Given the description of an element on the screen output the (x, y) to click on. 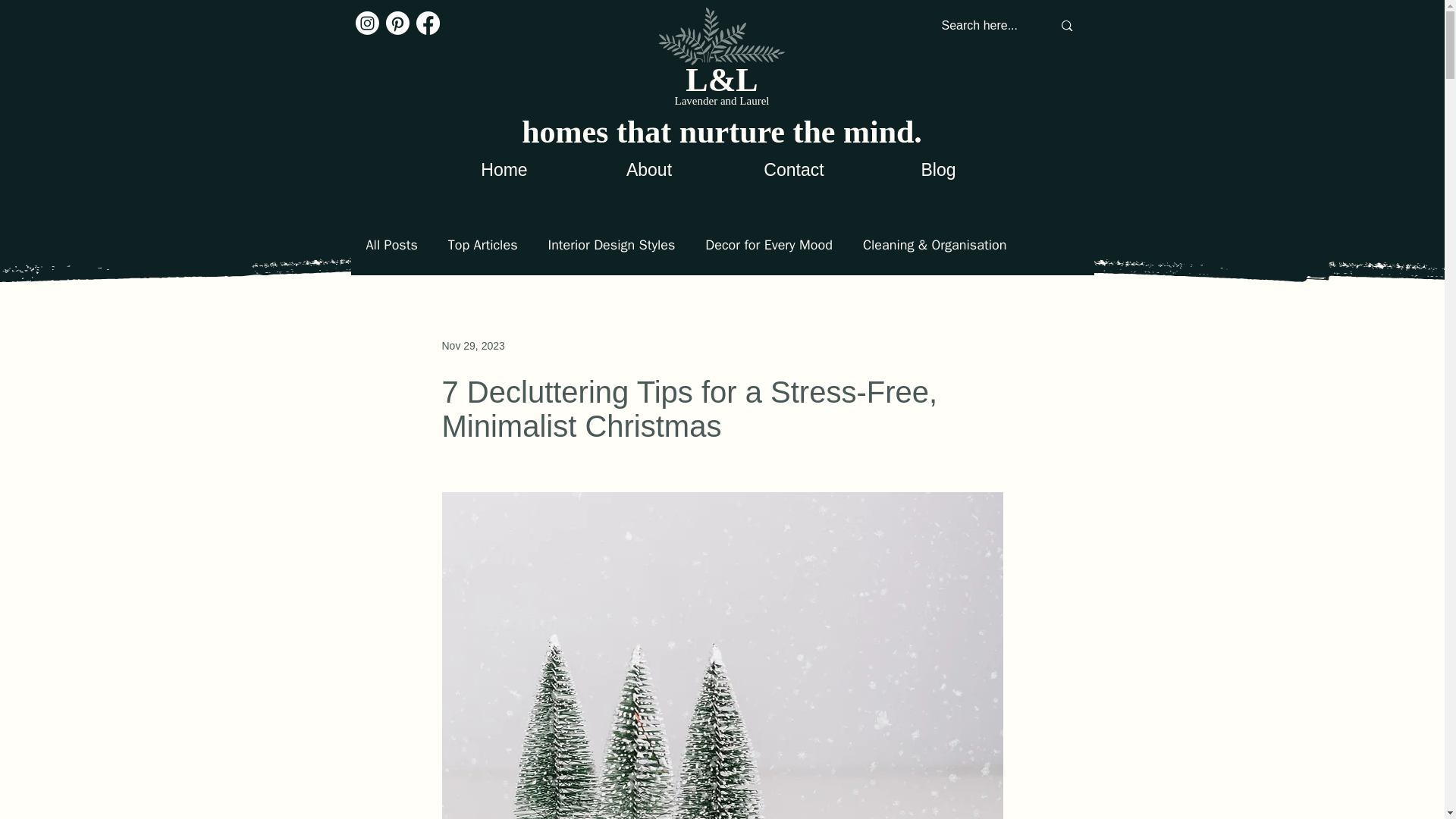
Contact (794, 168)
Top Articles (483, 244)
About (648, 168)
homes that nurture the mind. (721, 131)
Home (504, 168)
Decor for Every Mood (768, 244)
Lavender and Laurel (722, 101)
Nov 29, 2023 (472, 345)
Interior Design Styles (611, 244)
All Posts (390, 244)
